Given the description of an element on the screen output the (x, y) to click on. 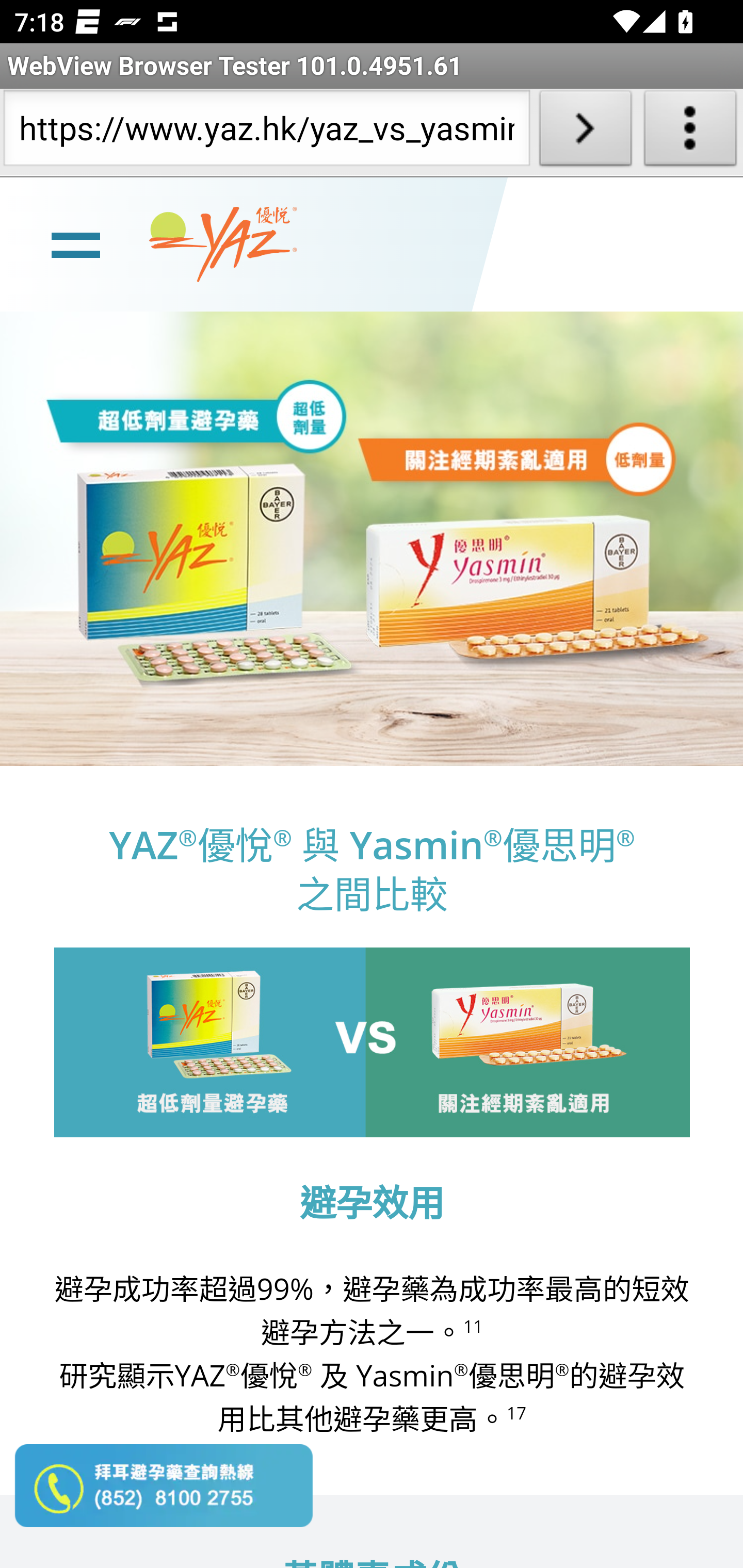
Load URL (585, 132)
About WebView (690, 132)
www.yaz (222, 244)
line Toggle burger menu (75, 242)
